Given the description of an element on the screen output the (x, y) to click on. 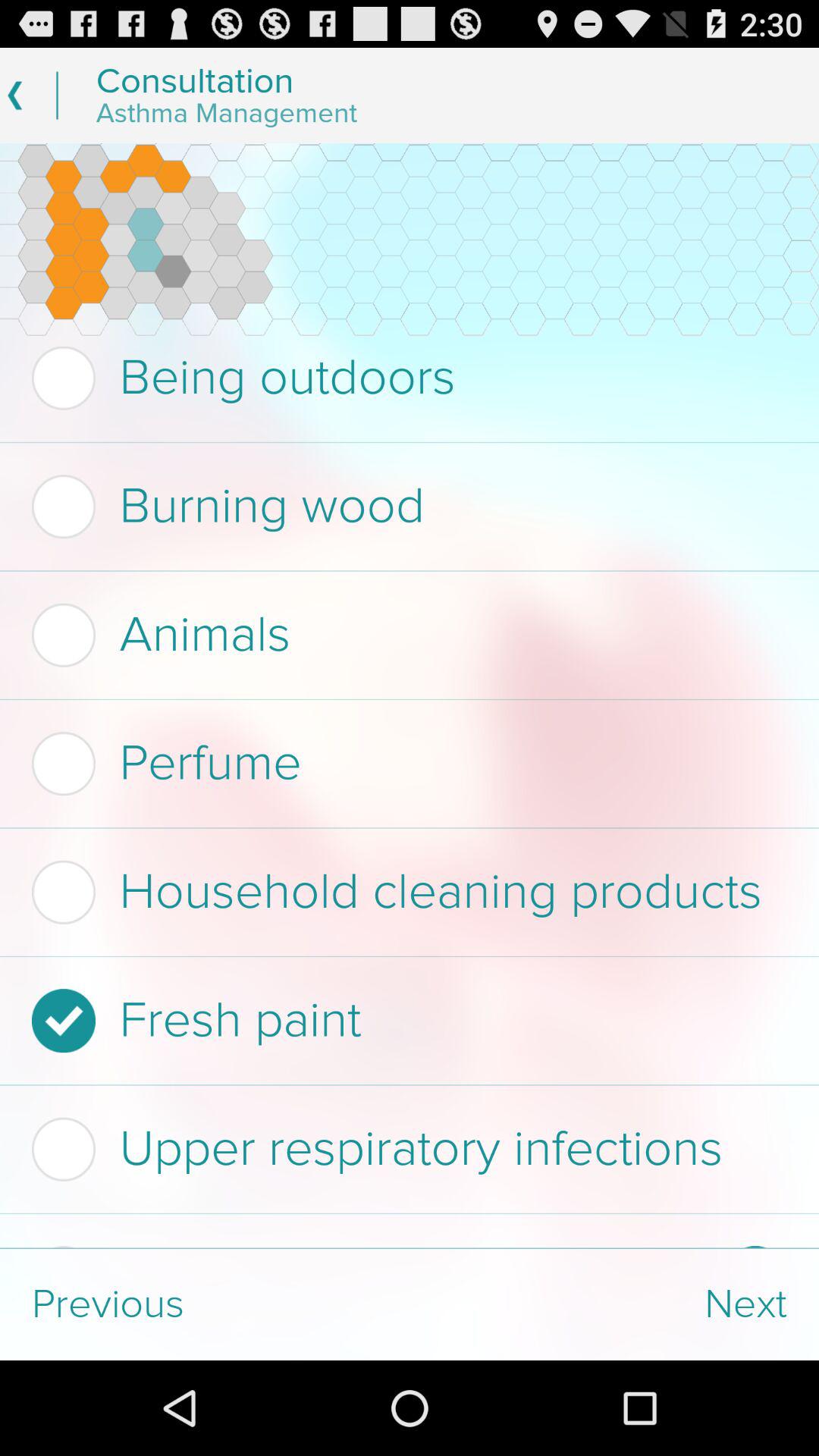
tap checkbox below upper respiratory infections item (373, 1246)
